Given the description of an element on the screen output the (x, y) to click on. 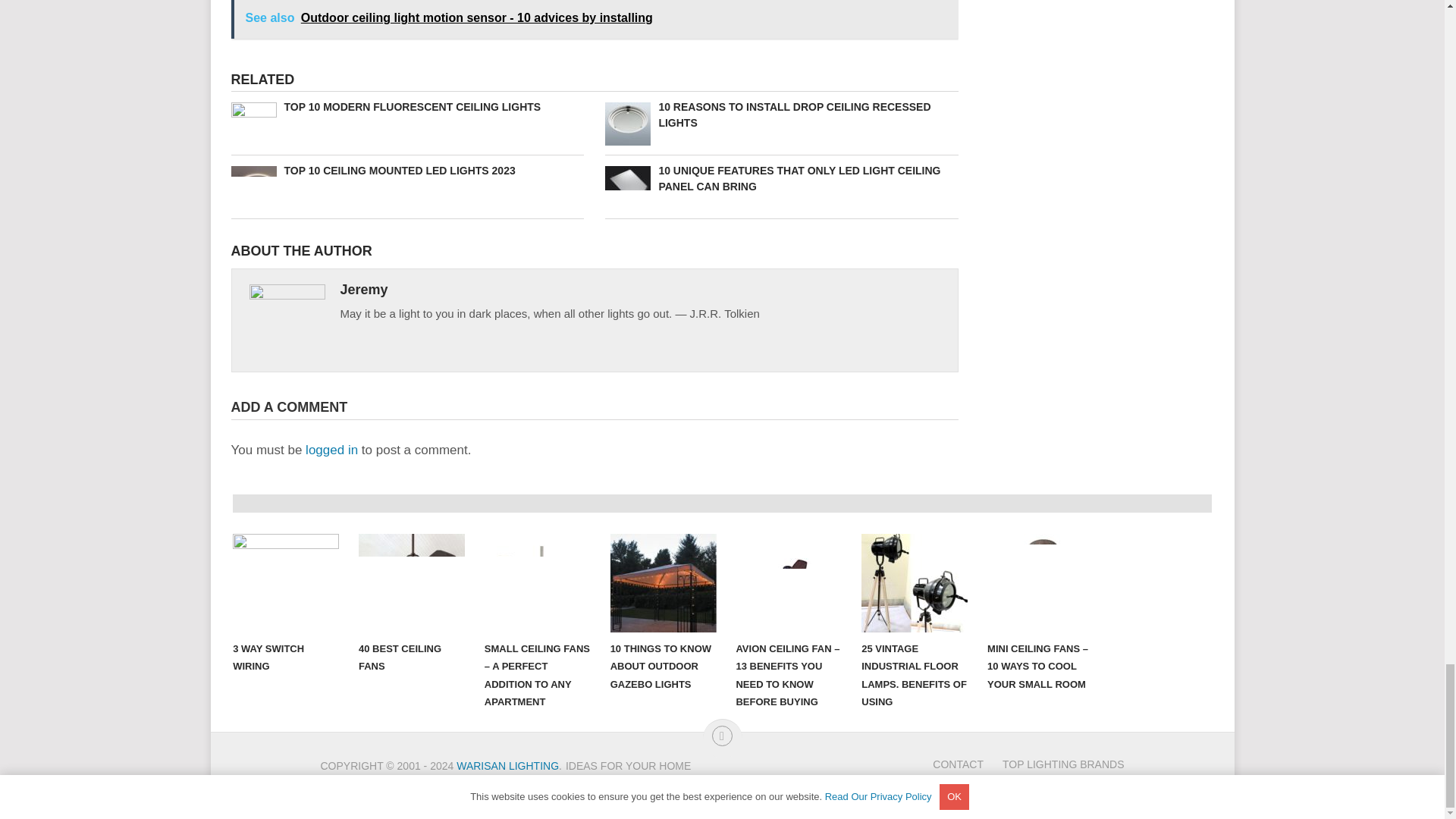
TOP 10 Ceiling mounted led lights 2023 (406, 170)
10 reasons to install Drop ceiling recessed lights (781, 115)
TOP 10 Modern fluorescent ceiling lights (406, 107)
logged in (331, 450)
TOP 10 MODERN FLUORESCENT CEILING LIGHTS (406, 107)
TOP 10 CEILING MOUNTED LED LIGHTS 2023 (406, 170)
10 REASONS TO INSTALL DROP CEILING RECESSED LIGHTS (781, 115)
